Given the description of an element on the screen output the (x, y) to click on. 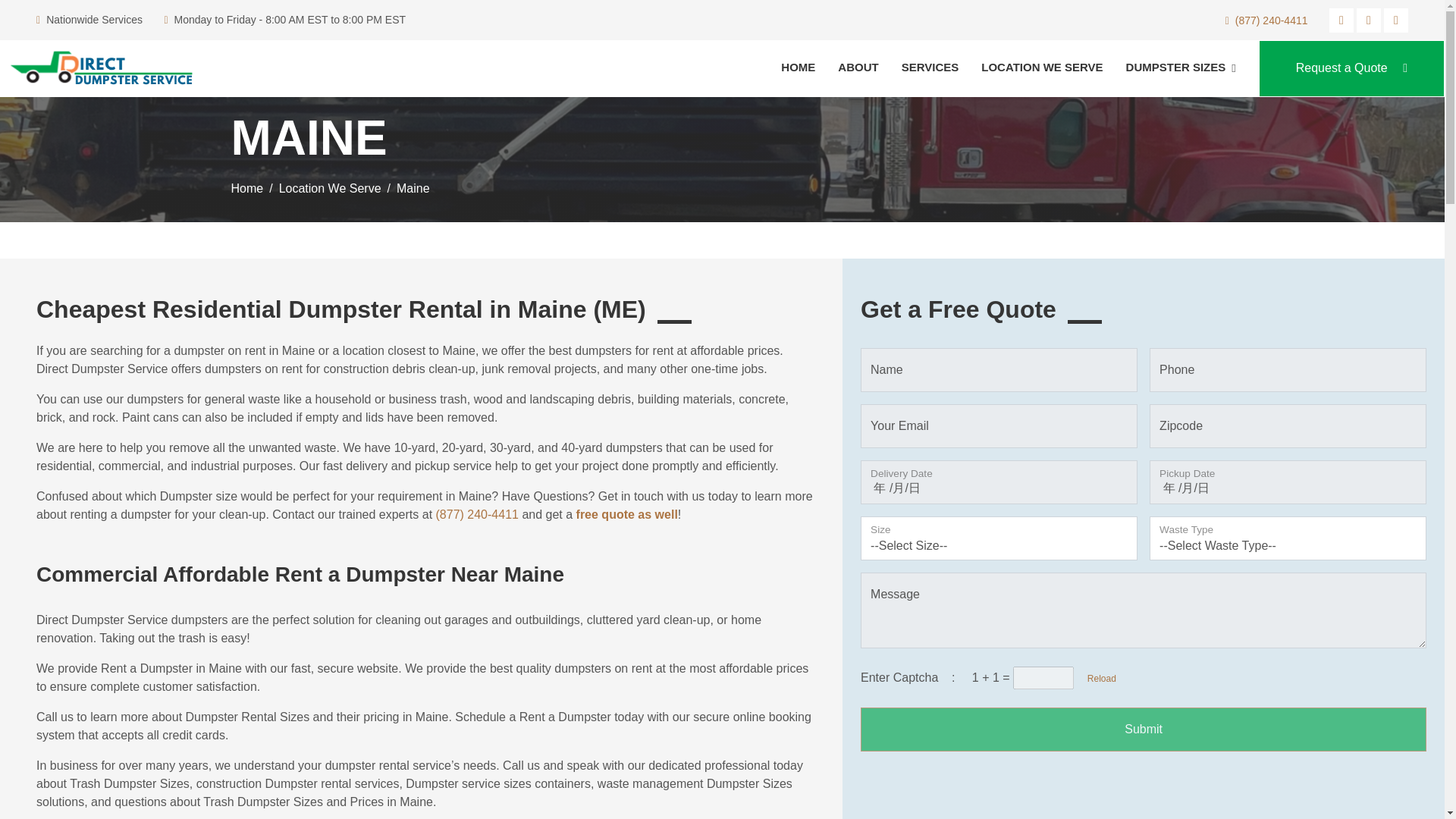
SERVICES (930, 68)
LOCATION WE SERVE (1041, 68)
ABOUT (857, 68)
HOME (797, 68)
Home (246, 187)
free quote as well (627, 513)
    Reload (1096, 678)
DUMPSTER SIZES (1180, 67)
Location We Serve (330, 187)
Submit (1143, 729)
